Given the description of an element on the screen output the (x, y) to click on. 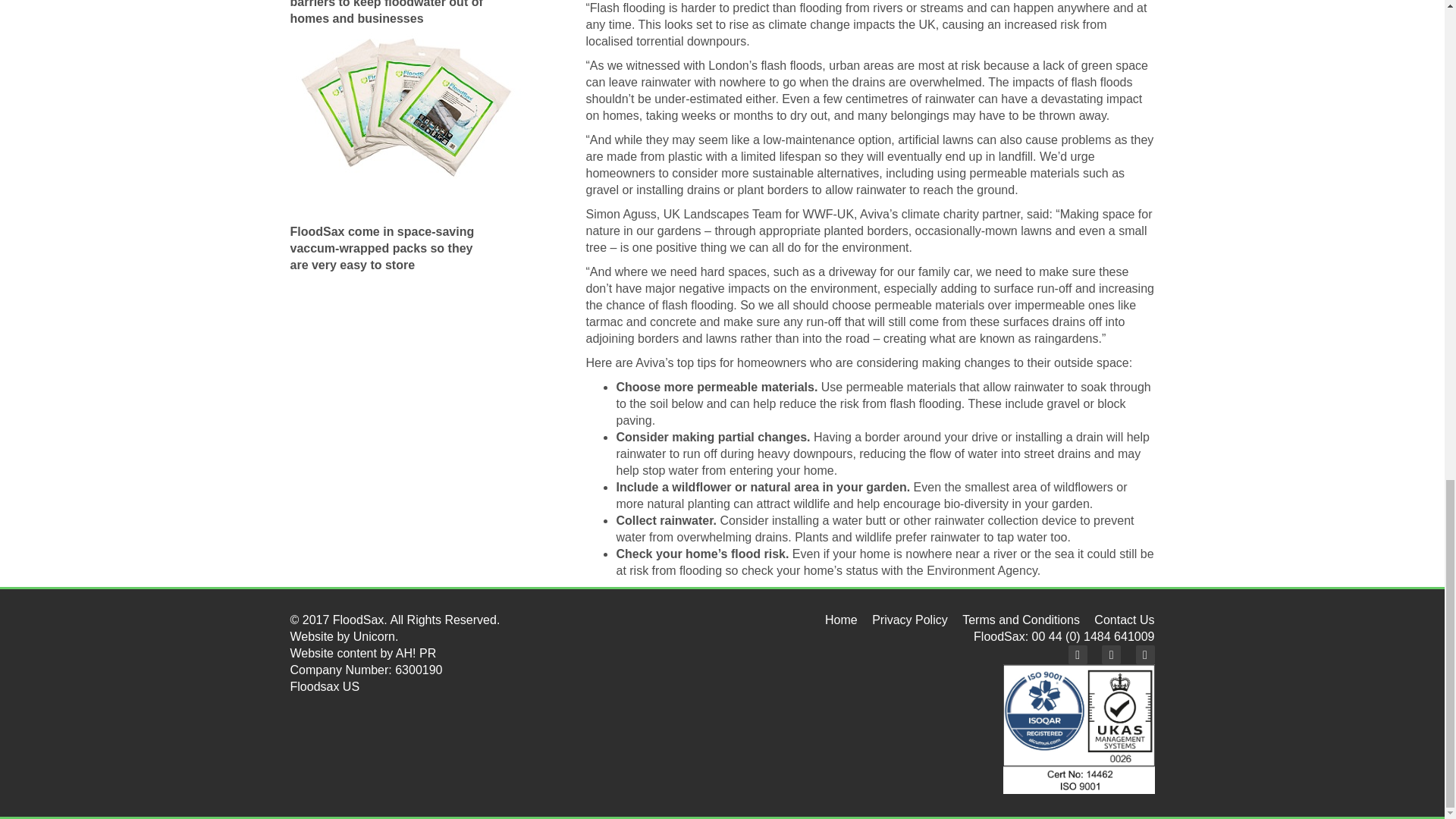
Contact Us (1124, 619)
Home (841, 619)
Unicorn (373, 635)
Terms and Conditions (1021, 619)
Website content by AH! PR (362, 653)
Floodsax US (324, 686)
Privacy Policy (909, 619)
